Given the description of an element on the screen output the (x, y) to click on. 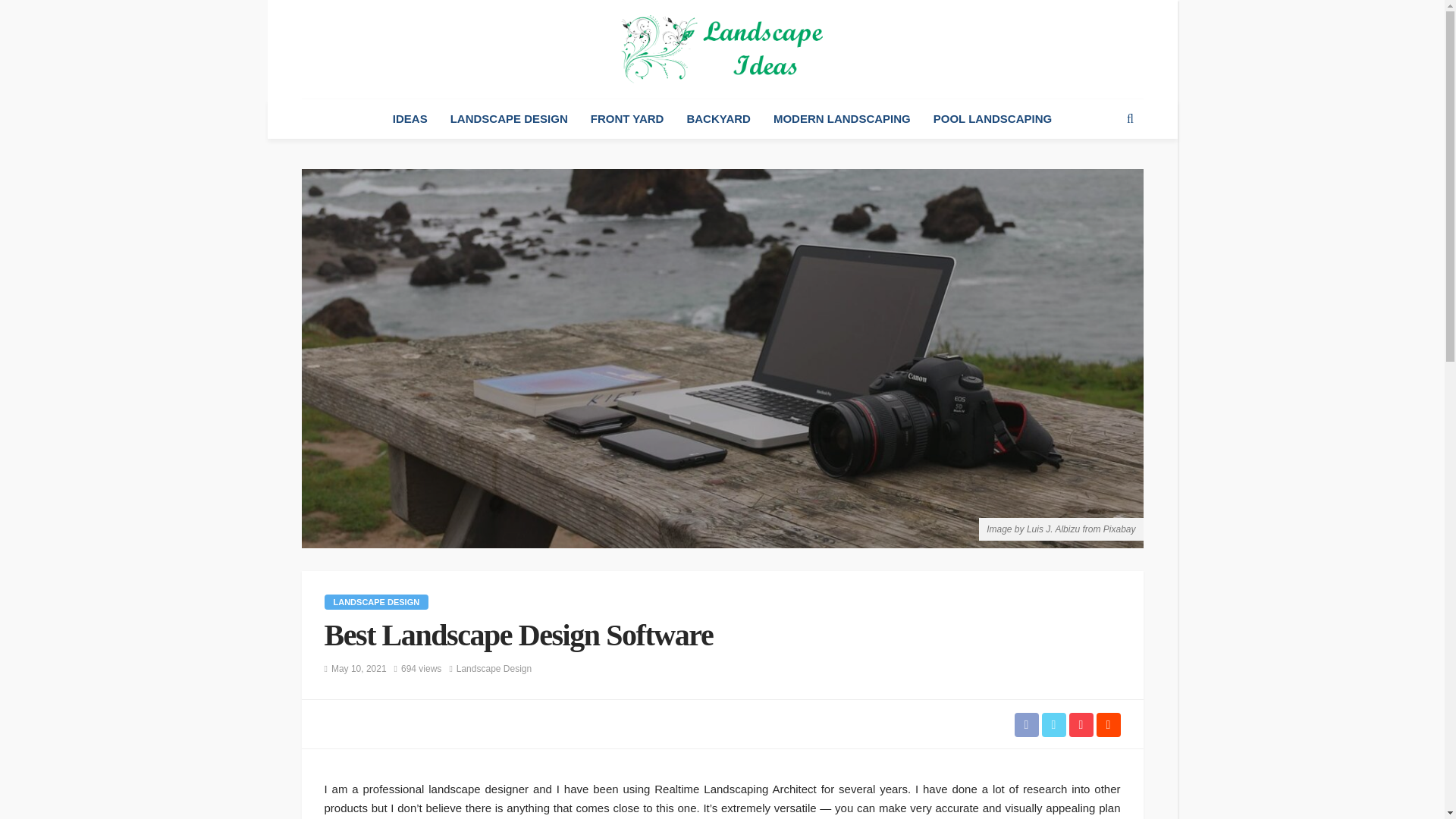
Landscape Design (376, 601)
Landscape Design (494, 668)
Landscape Ideas (721, 49)
Best Landscape Design Software (421, 668)
